Given the description of an element on the screen output the (x, y) to click on. 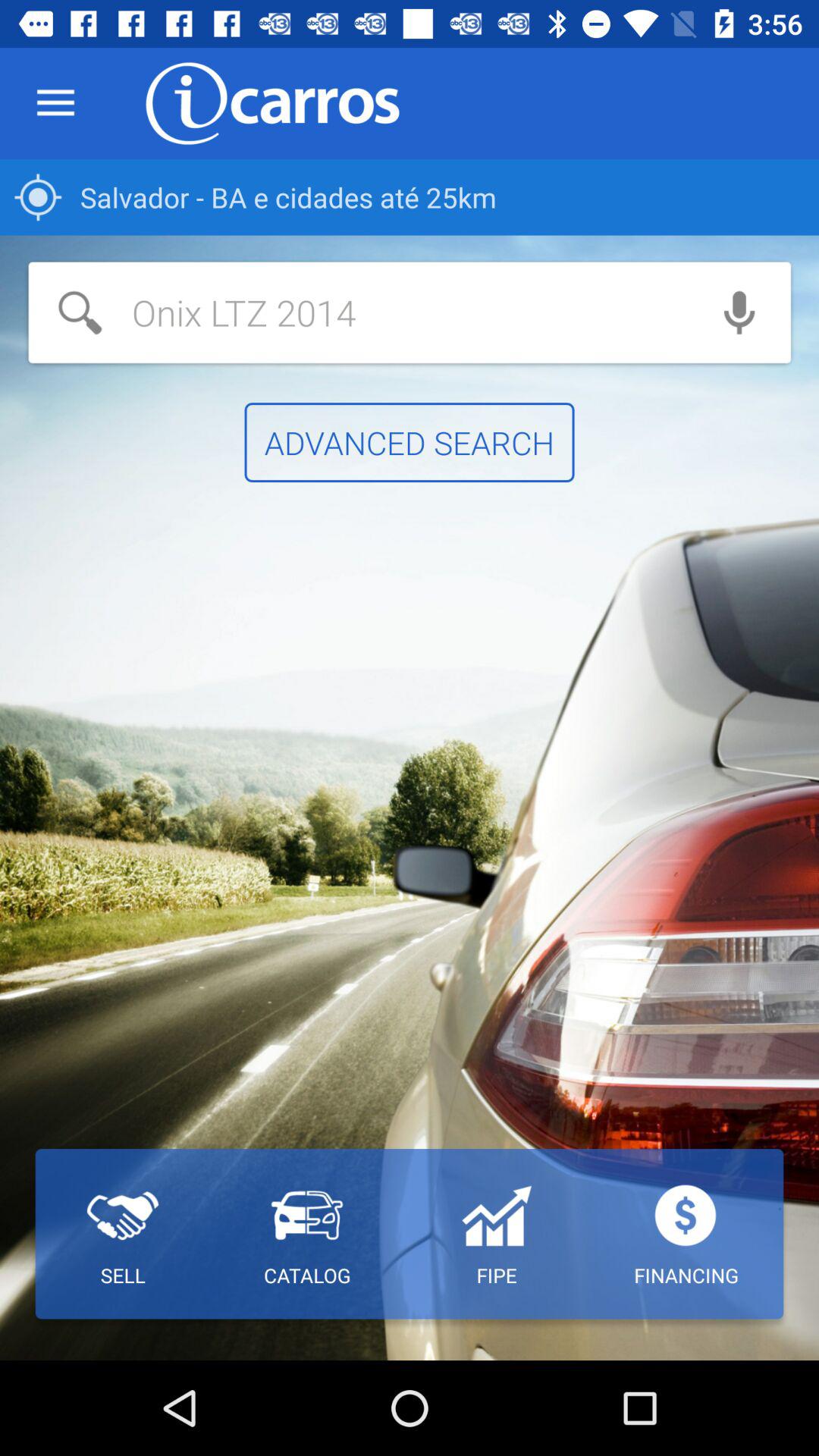
launch the item next to the sell (306, 1233)
